Given the description of an element on the screen output the (x, y) to click on. 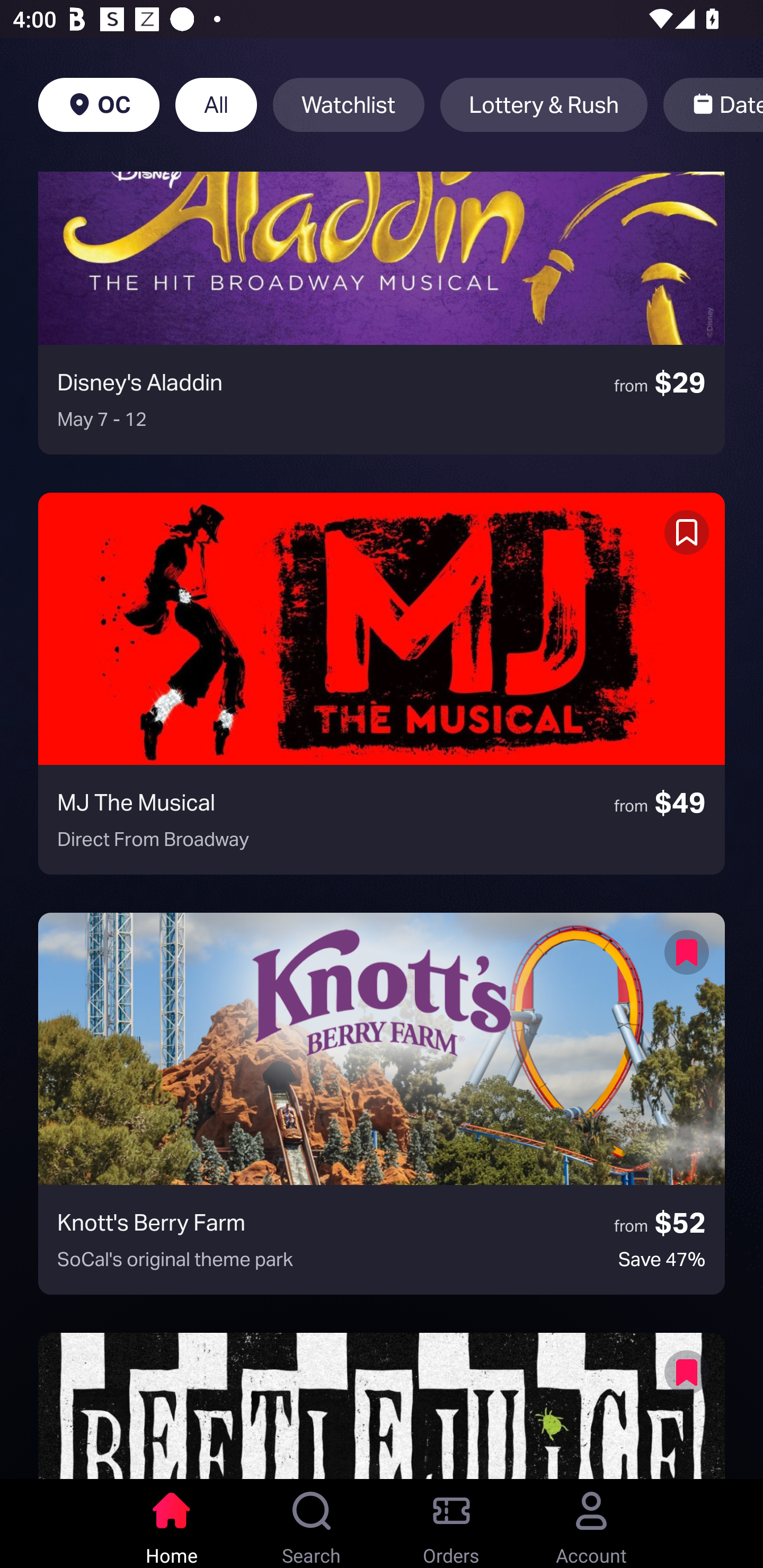
OC (98, 104)
All (216, 104)
Watchlist (348, 104)
Lottery & Rush (543, 104)
Disney's Aladdin from $29 May 7 - 12 (381, 312)
MJ The Musical from $49 Direct From Broadway (381, 683)
Search (311, 1523)
Orders (451, 1523)
Account (591, 1523)
